Given the description of an element on the screen output the (x, y) to click on. 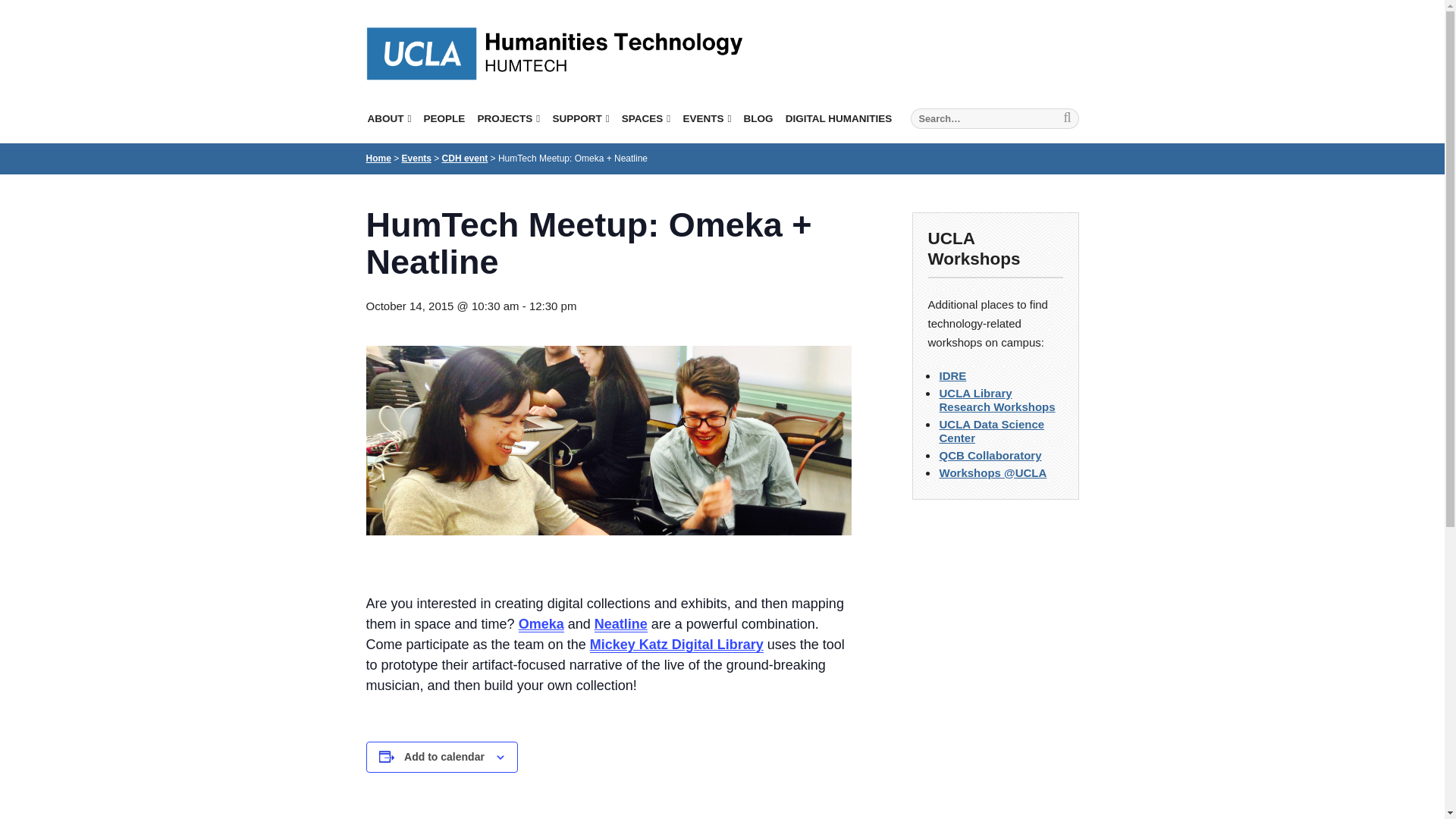
Neatline (620, 624)
EVENTS (706, 118)
PEOPLE (444, 118)
SUPPORT (579, 118)
DIGITAL HUMANITIES (839, 118)
Search for: (994, 118)
Omeka (541, 624)
Events (415, 158)
Home (377, 158)
SPACES (645, 118)
